Given the description of an element on the screen output the (x, y) to click on. 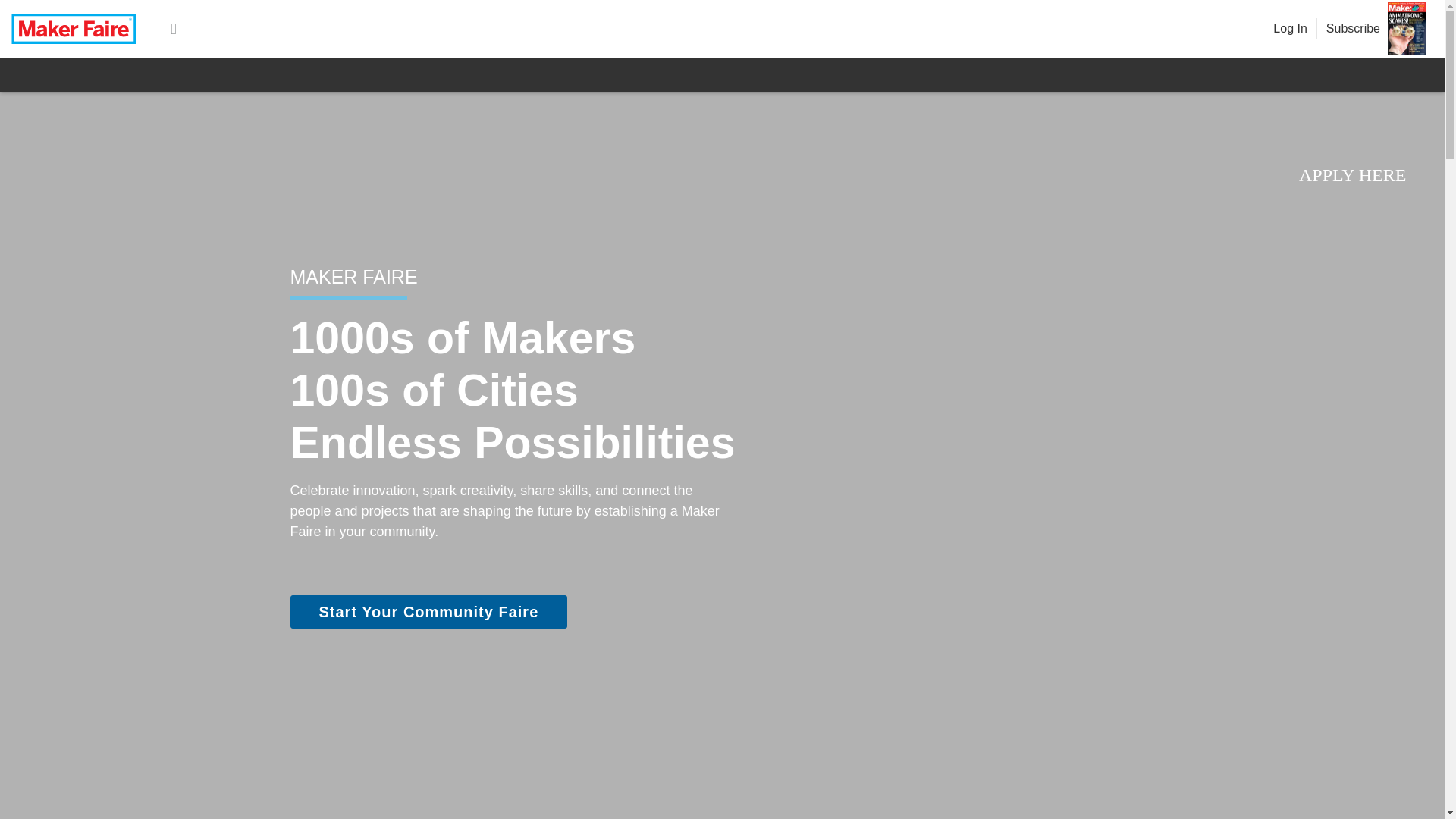
Log In (1289, 28)
